Given the description of an element on the screen output the (x, y) to click on. 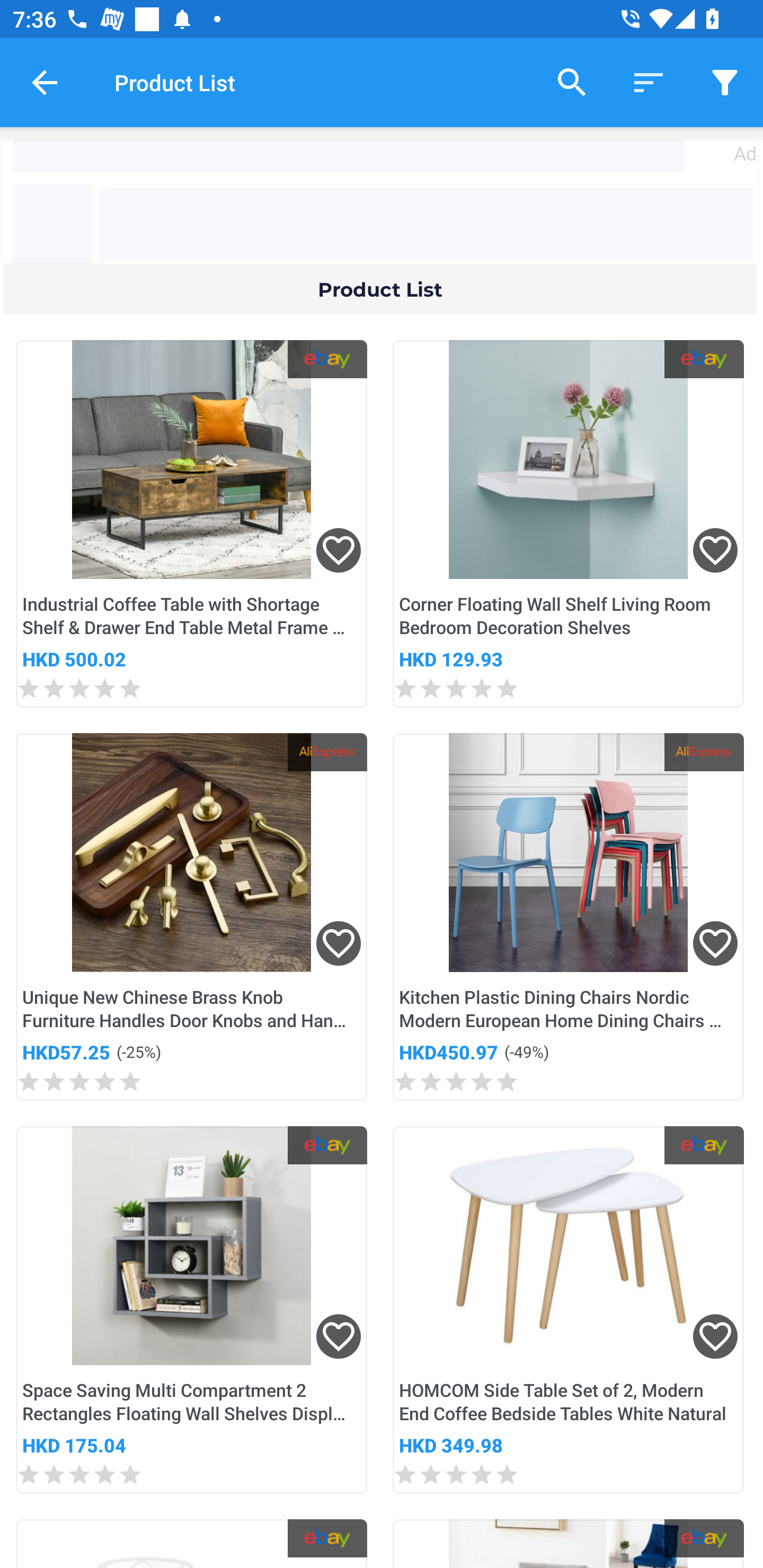
Navigate up (44, 82)
Search (572, 81)
short (648, 81)
short (724, 81)
